Given the description of an element on the screen output the (x, y) to click on. 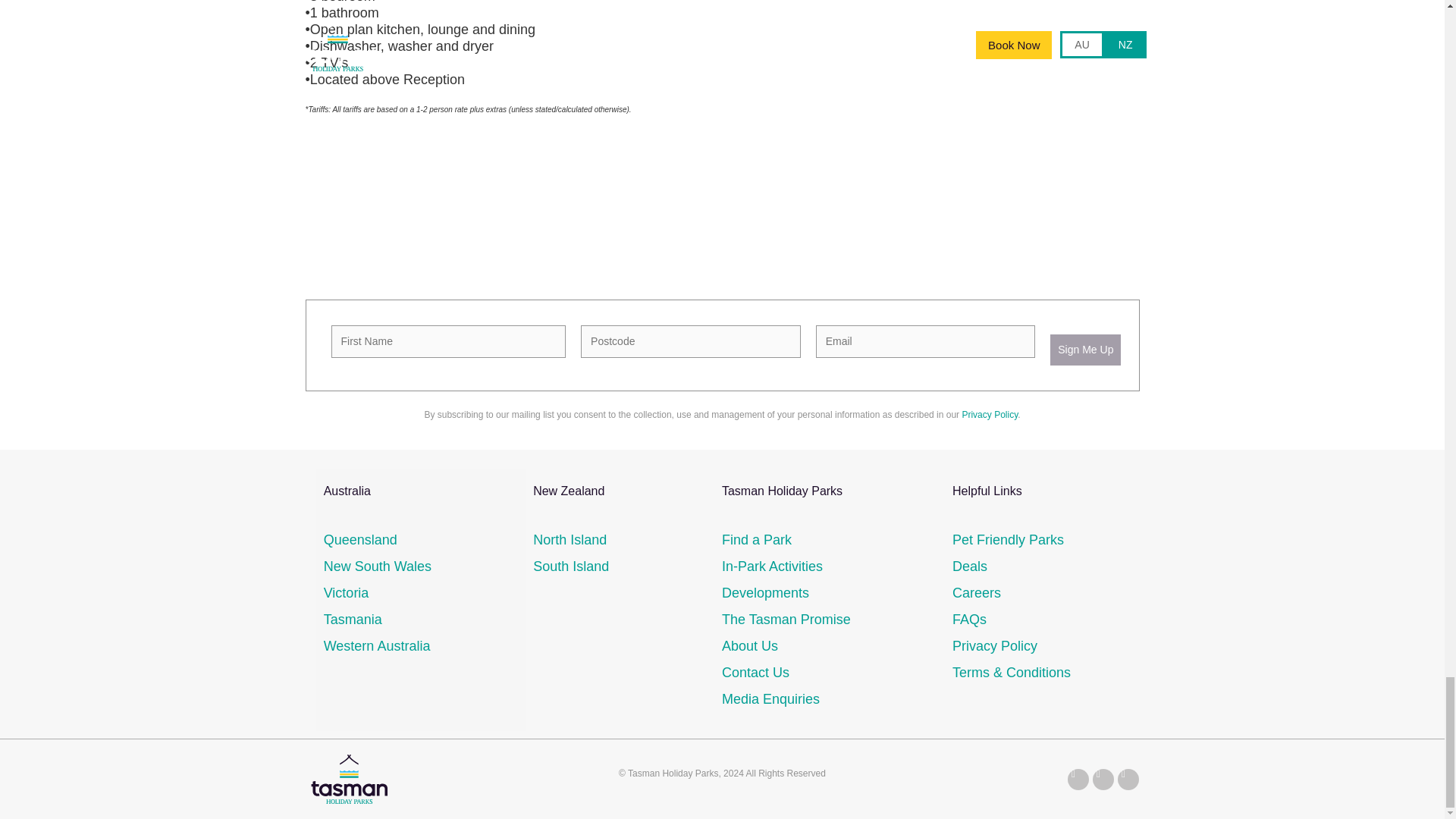
Sign Me Up (1085, 349)
Tasman Holiday Parks (347, 778)
Find a Park (757, 539)
Western Australia (376, 645)
Victoria (346, 592)
Queensland (360, 539)
North Island (569, 539)
South Island (570, 566)
Tasmania (352, 619)
New South Wales (376, 566)
Privacy Policy (988, 414)
